Given the description of an element on the screen output the (x, y) to click on. 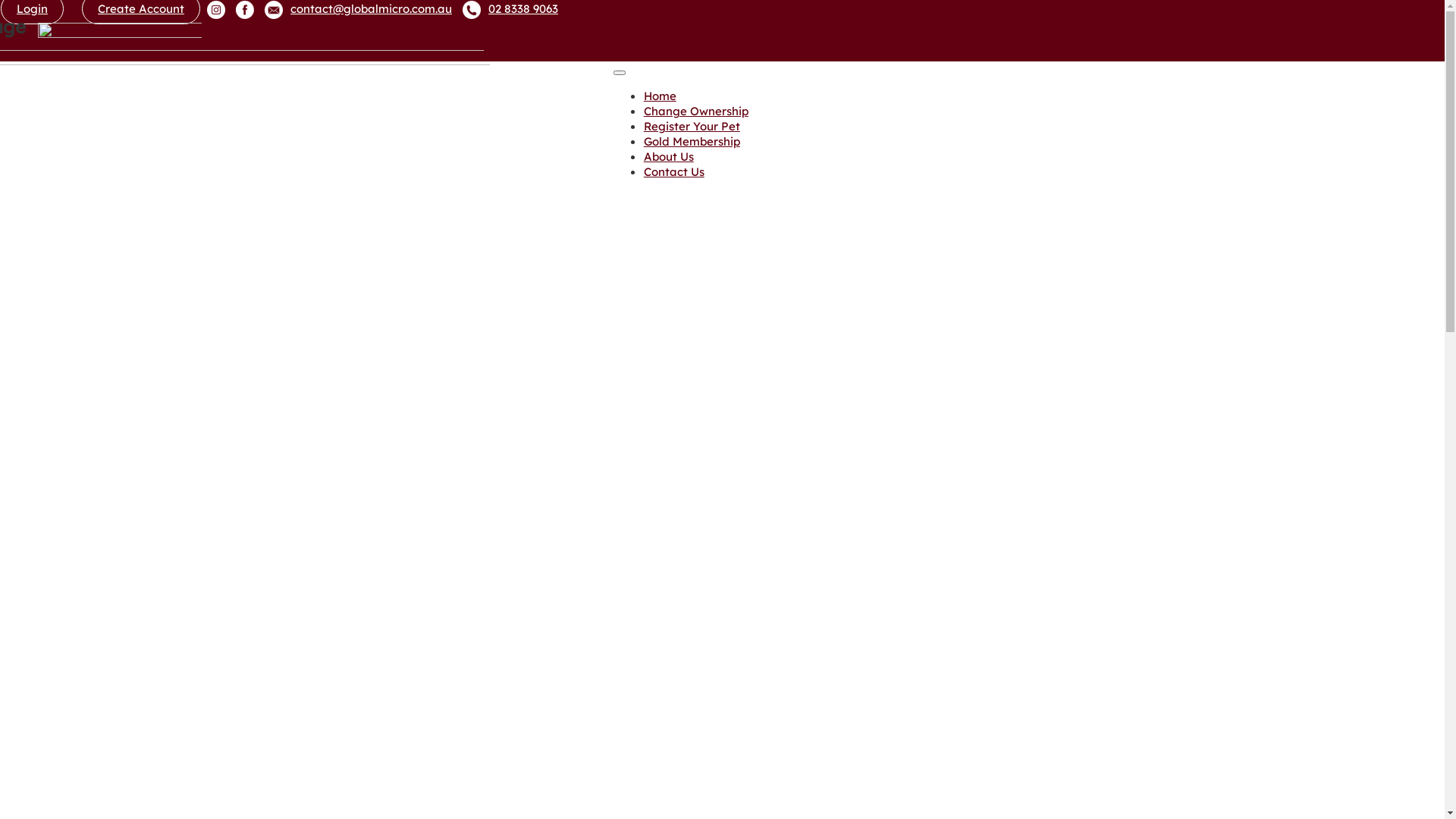
Register Your Pet Element type: text (691, 126)
Home Element type: text (659, 95)
Contact Us Element type: text (673, 171)
Change Ownership Element type: text (695, 110)
About Us Element type: text (668, 156)
contact@globalmicro.com.au Element type: text (357, 7)
Gold Membership Element type: text (691, 141)
02 8338 9063 Element type: text (510, 7)
